Given the description of an element on the screen output the (x, y) to click on. 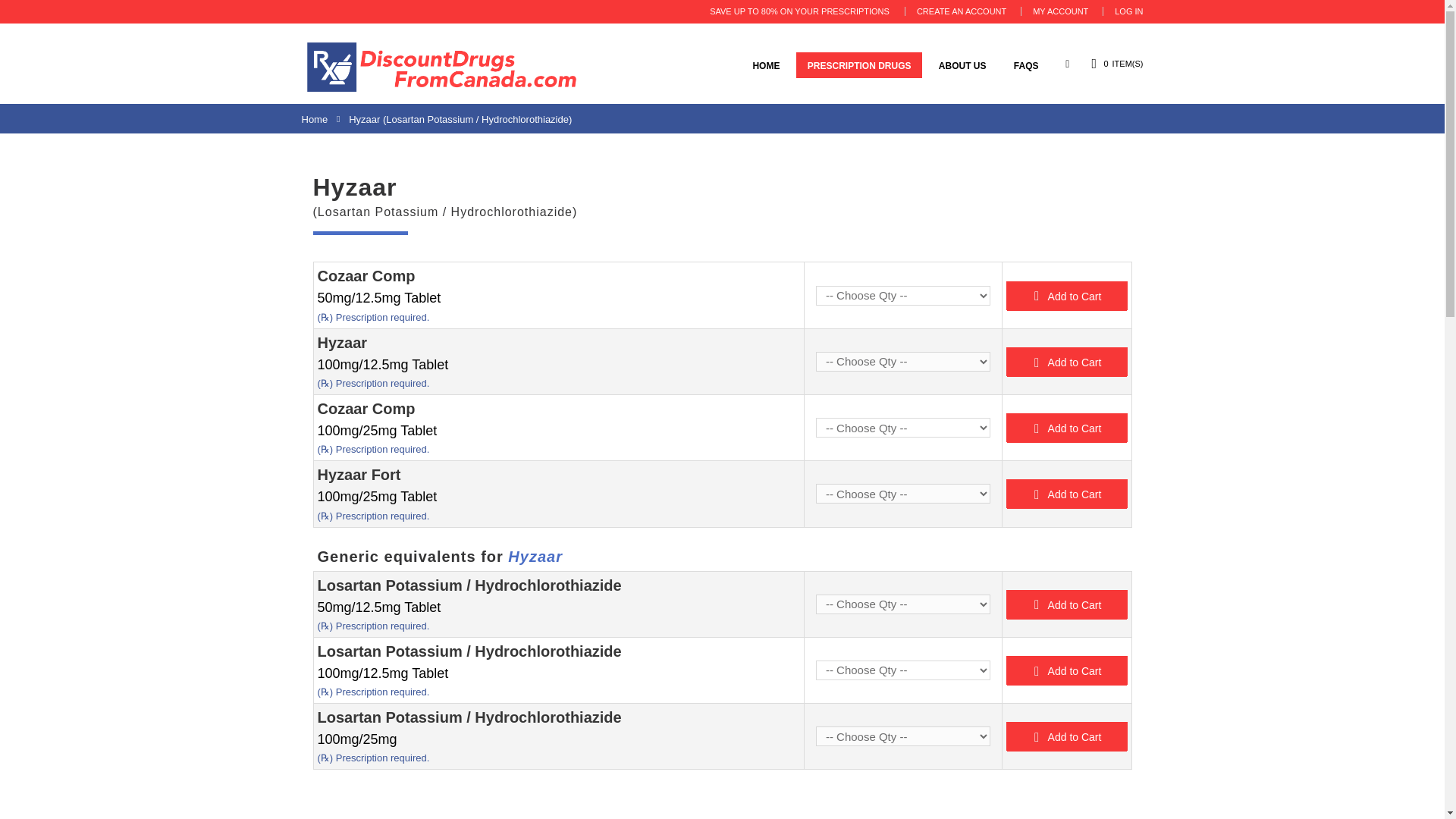
Add to Cart (1066, 361)
Add to Cart (1066, 493)
My Account (1059, 11)
PRESCRIPTION DRUGS (859, 64)
ABOUT US (962, 64)
Add to Cart (1066, 670)
Home (315, 119)
Add to Cart (1066, 604)
Add to Cart (1066, 361)
Add to Cart (1066, 295)
